Given the description of an element on the screen output the (x, y) to click on. 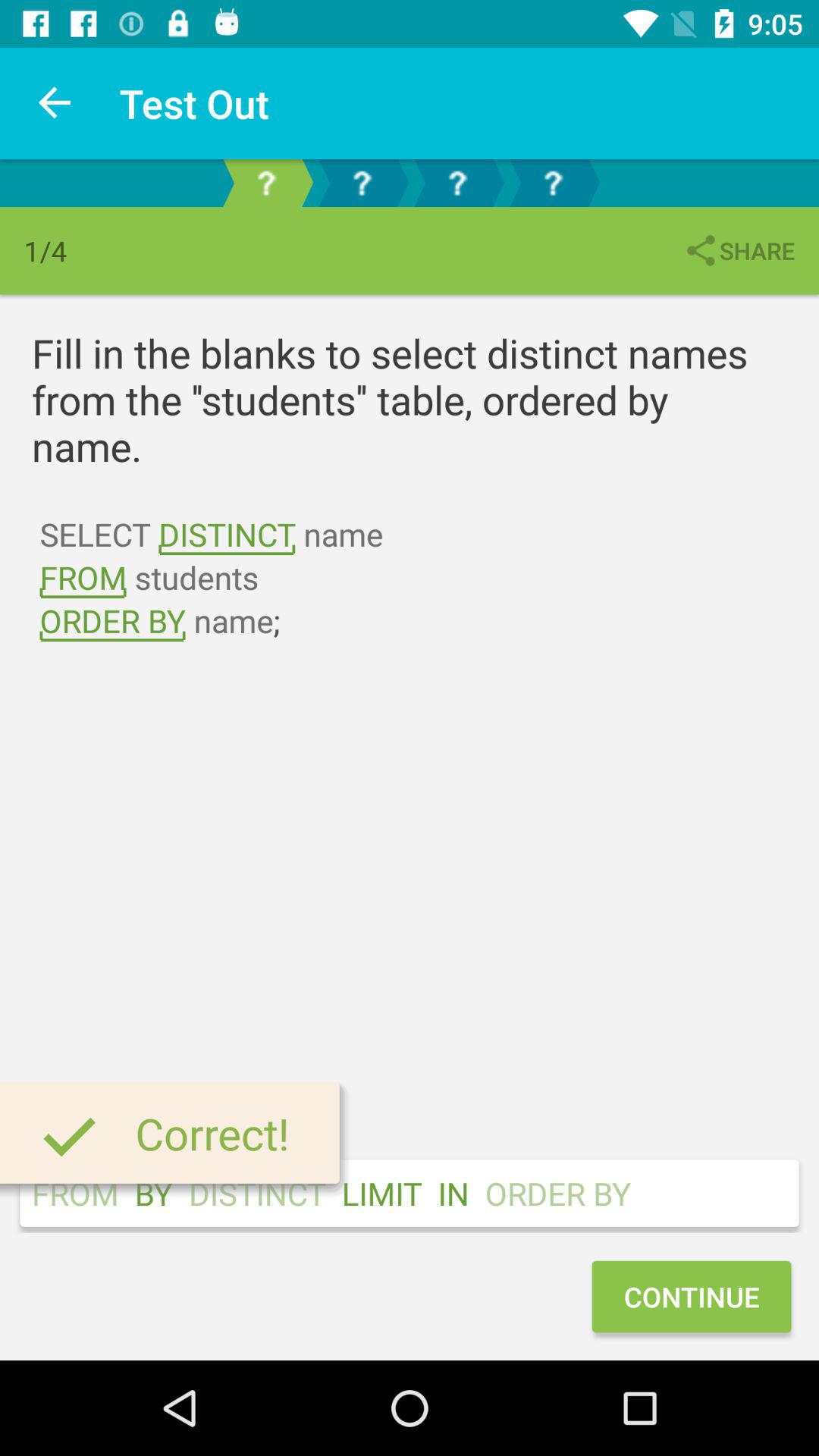
press the item above the 1/4 item (55, 103)
